Given the description of an element on the screen output the (x, y) to click on. 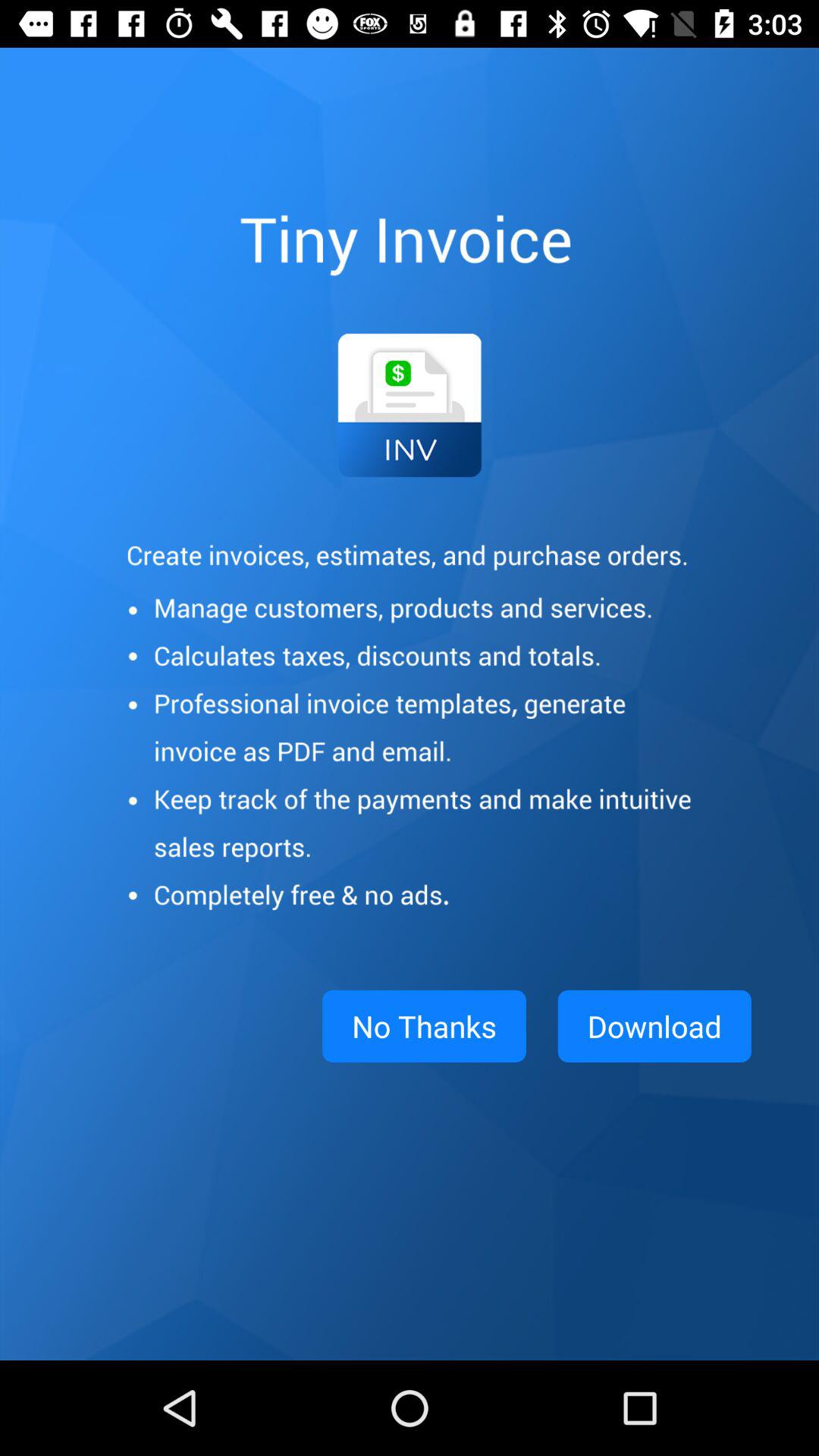
launch the icon at the bottom right corner (654, 1026)
